Given the description of an element on the screen output the (x, y) to click on. 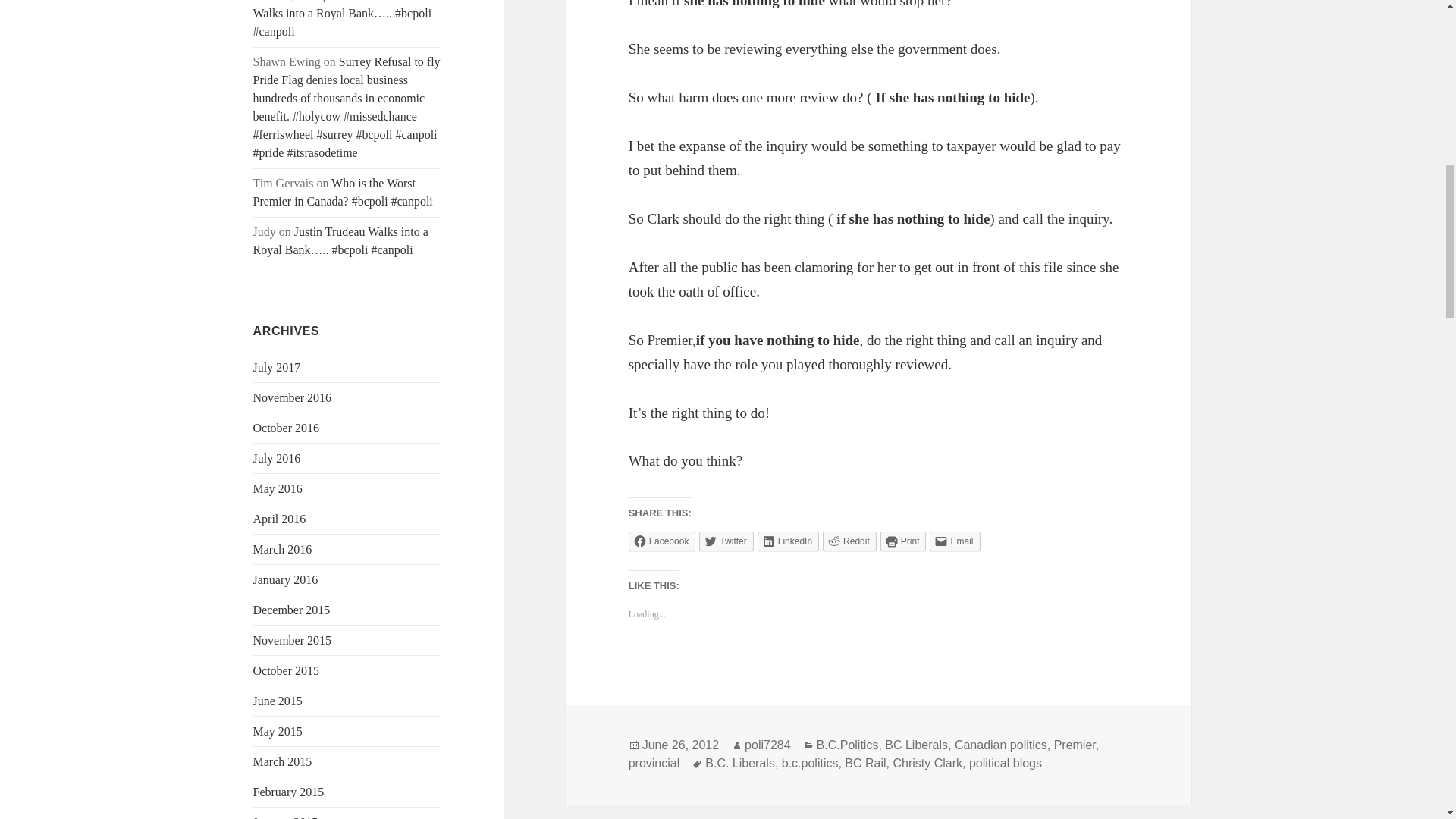
July 2016 (277, 458)
November 2016 (292, 397)
Click to print (903, 541)
May 2016 (277, 488)
July 2017 (277, 367)
Click to share on Reddit (849, 541)
Click to email this to a friend (954, 541)
May 2015 (277, 730)
October 2016 (286, 427)
January 2015 (285, 817)
December 2015 (291, 609)
Click to share on LinkedIn (787, 541)
March 2015 (283, 761)
October 2015 (286, 670)
June 2015 (277, 700)
